Given the description of an element on the screen output the (x, y) to click on. 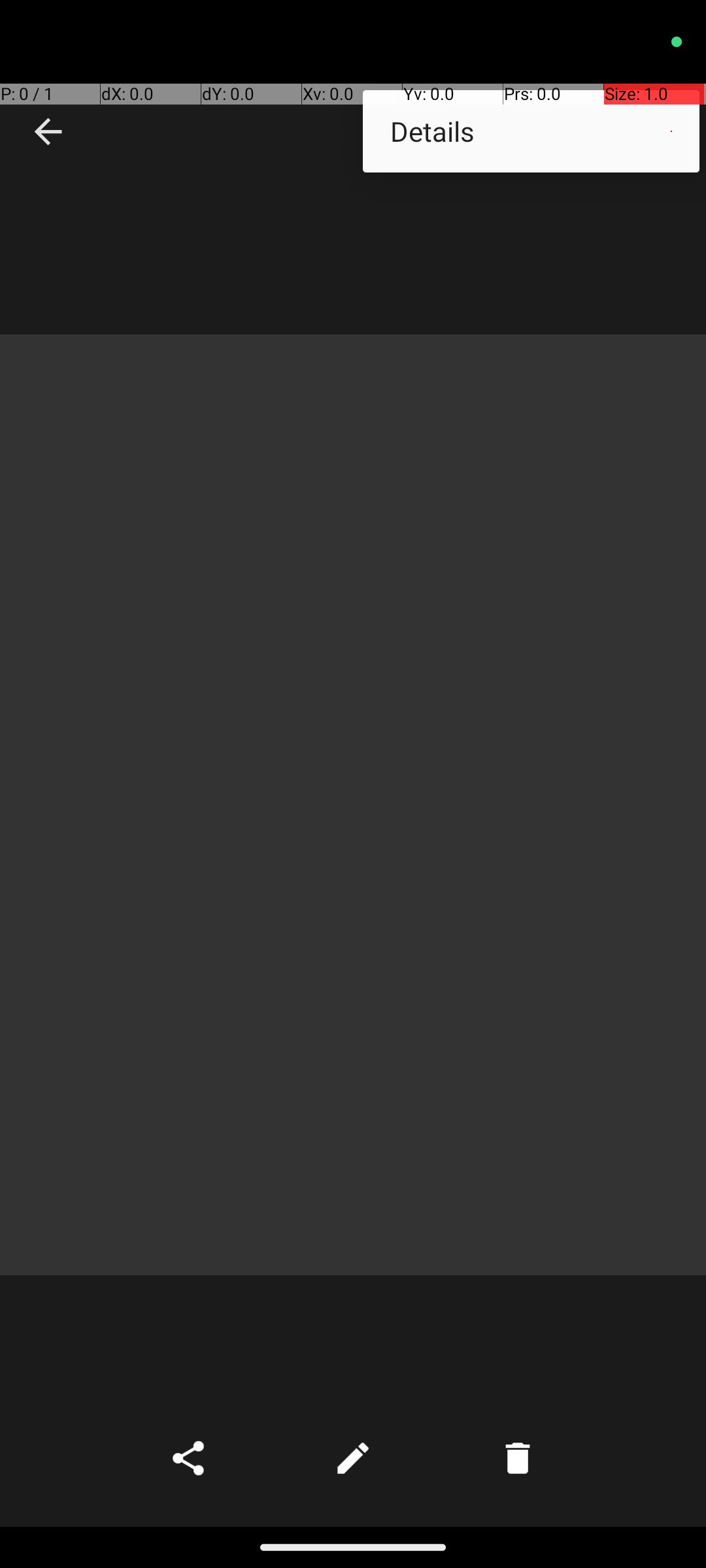
Details Element type: android.widget.TextView (531, 130)
